Given the description of an element on the screen output the (x, y) to click on. 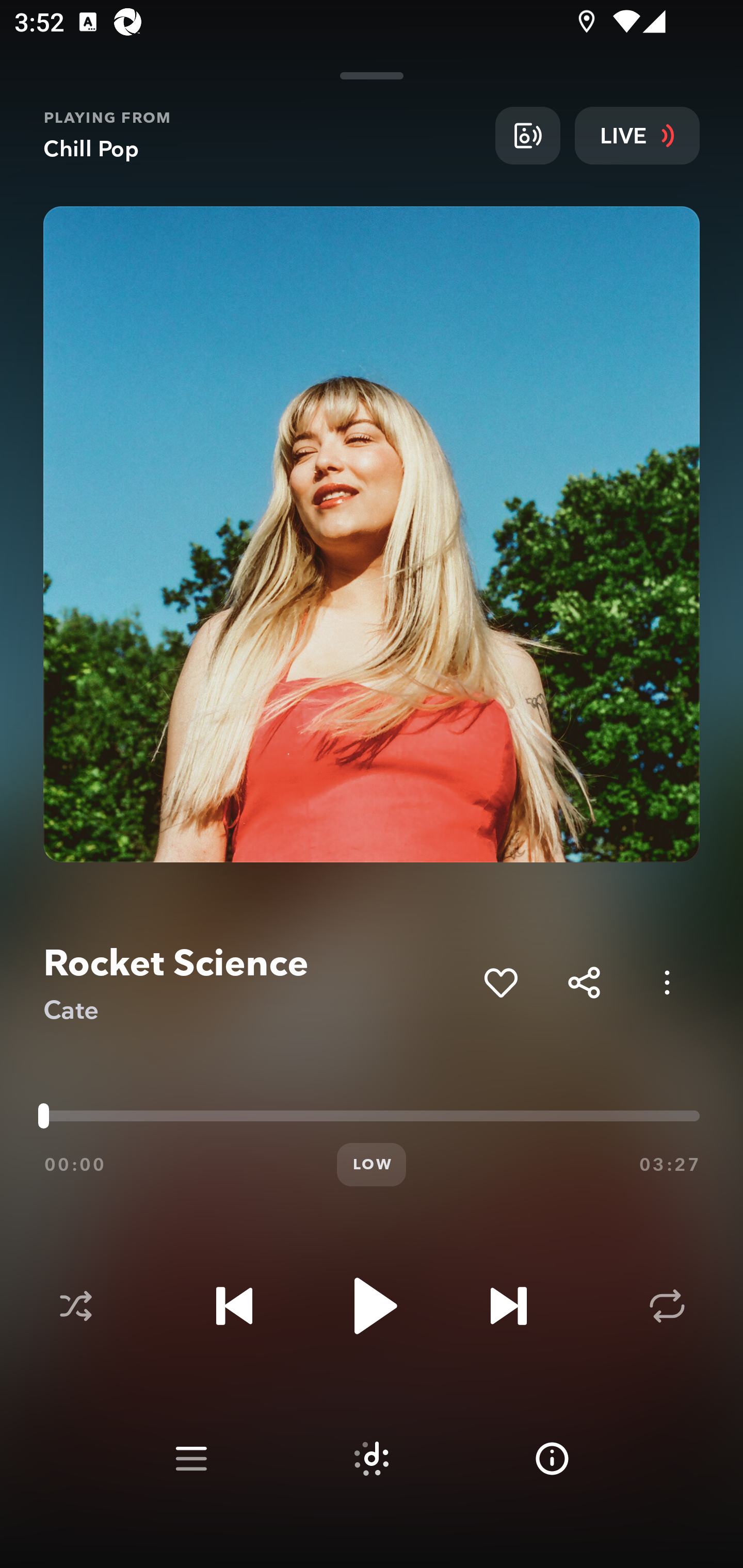
Broadcast (527, 135)
LIVE (637, 135)
PLAYING FROM Chill Pop (261, 135)
Rocket Science Cate (255, 983)
Add to My Collection (500, 982)
Share (583, 982)
Options (666, 982)
LOW (371, 1164)
Play (371, 1306)
Previous (234, 1306)
Next (508, 1306)
Shuffle disabled (75, 1306)
Repeat Off (666, 1306)
Play queue (191, 1458)
Suggested tracks (371, 1458)
Info (551, 1458)
